Given the description of an element on the screen output the (x, y) to click on. 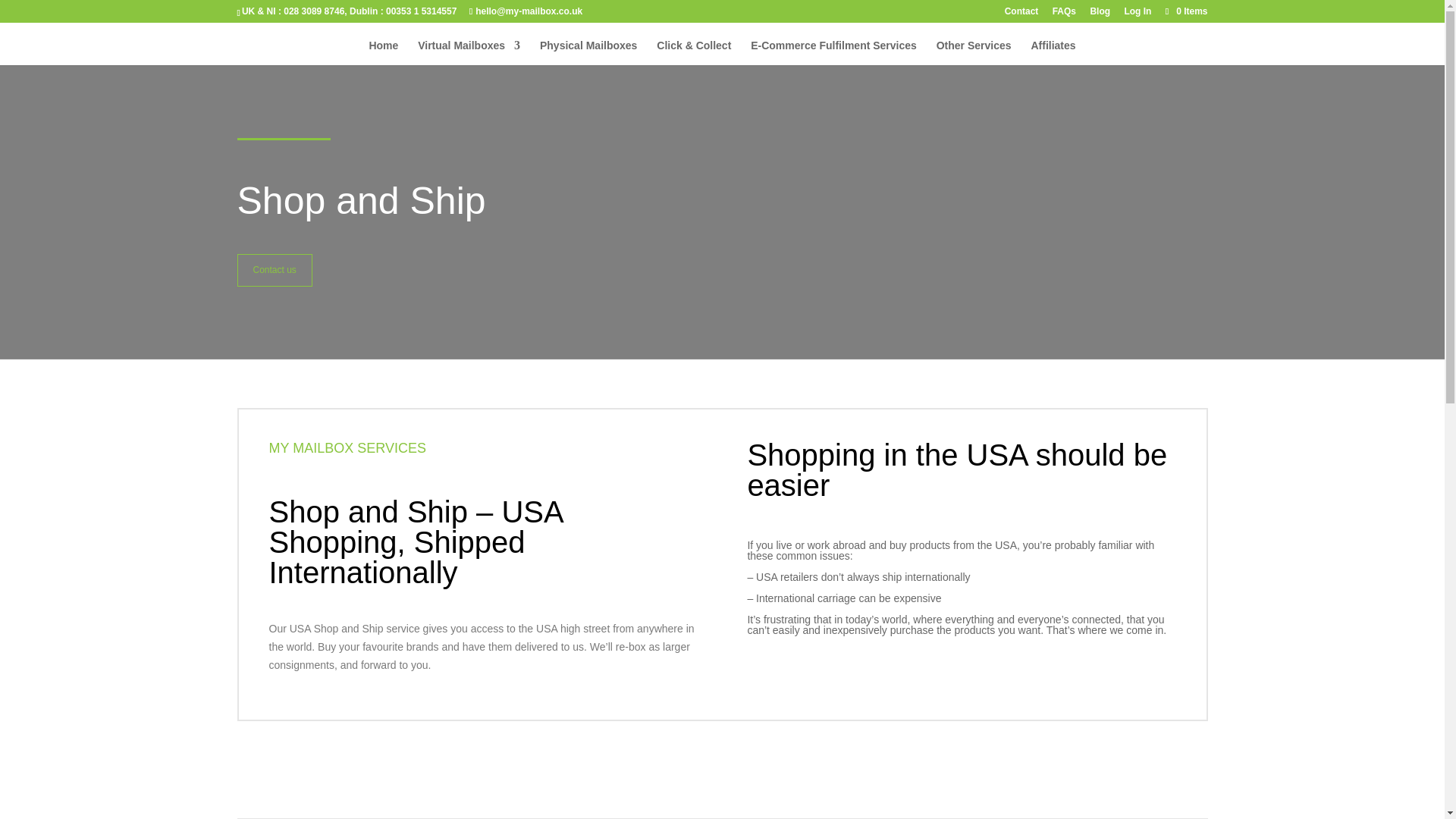
Blog (1099, 14)
Log In (1137, 14)
Other Services (973, 52)
Contact (1021, 14)
Virtual Mailboxes (468, 52)
Home (382, 52)
0 Items (1184, 10)
FAQs (1063, 14)
E-Commerce Fulfilment Services (834, 52)
Affiliates (1052, 52)
Physical Mailboxes (588, 52)
Contact us (273, 269)
